Given the description of an element on the screen output the (x, y) to click on. 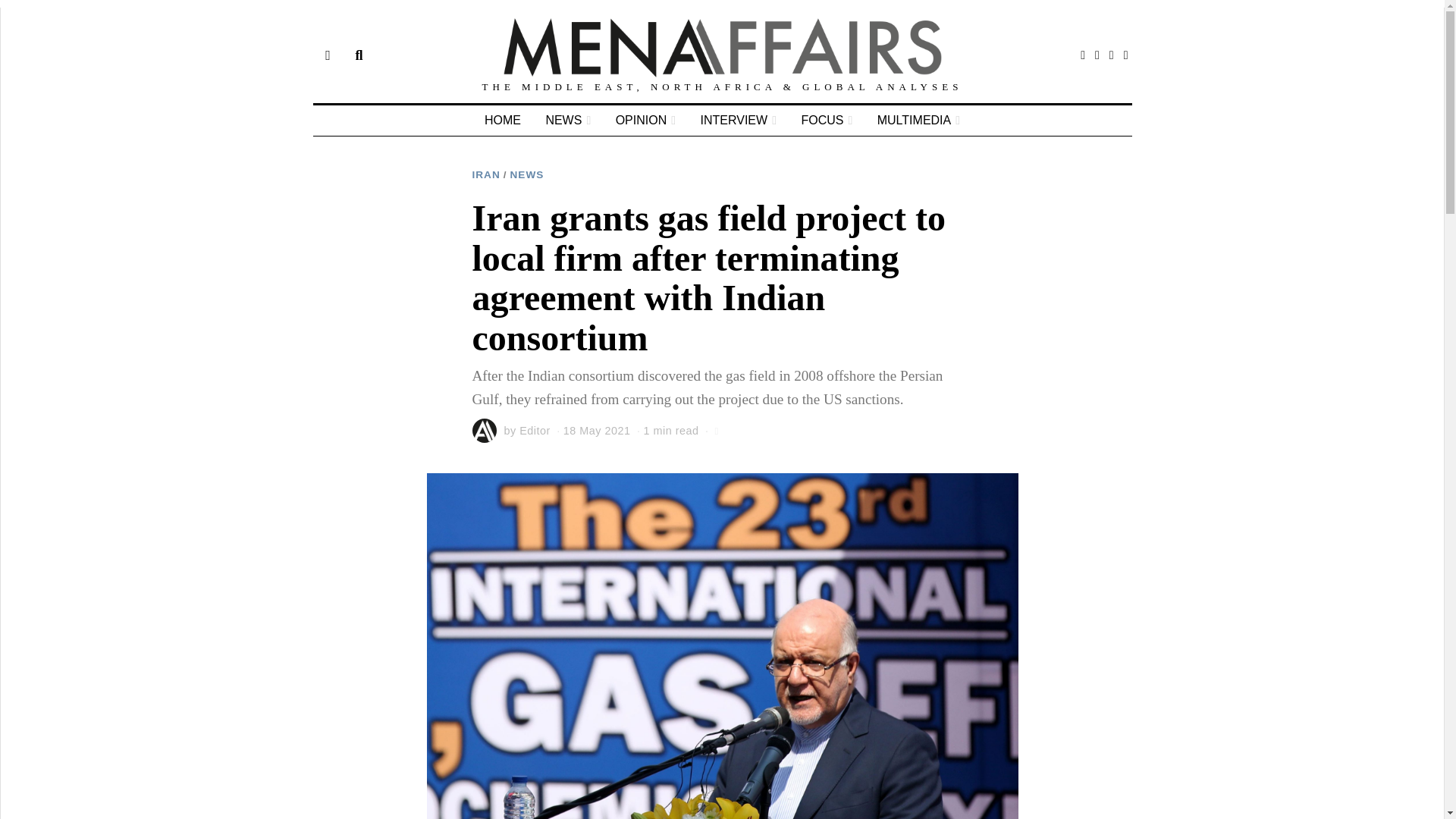
NEWS (527, 174)
Editor (534, 430)
INTERVIEW (738, 120)
IRAN (485, 174)
FOCUS (826, 120)
NEWS (567, 120)
OPINION (645, 120)
HOME (502, 120)
MULTIMEDIA (918, 120)
